Given the description of an element on the screen output the (x, y) to click on. 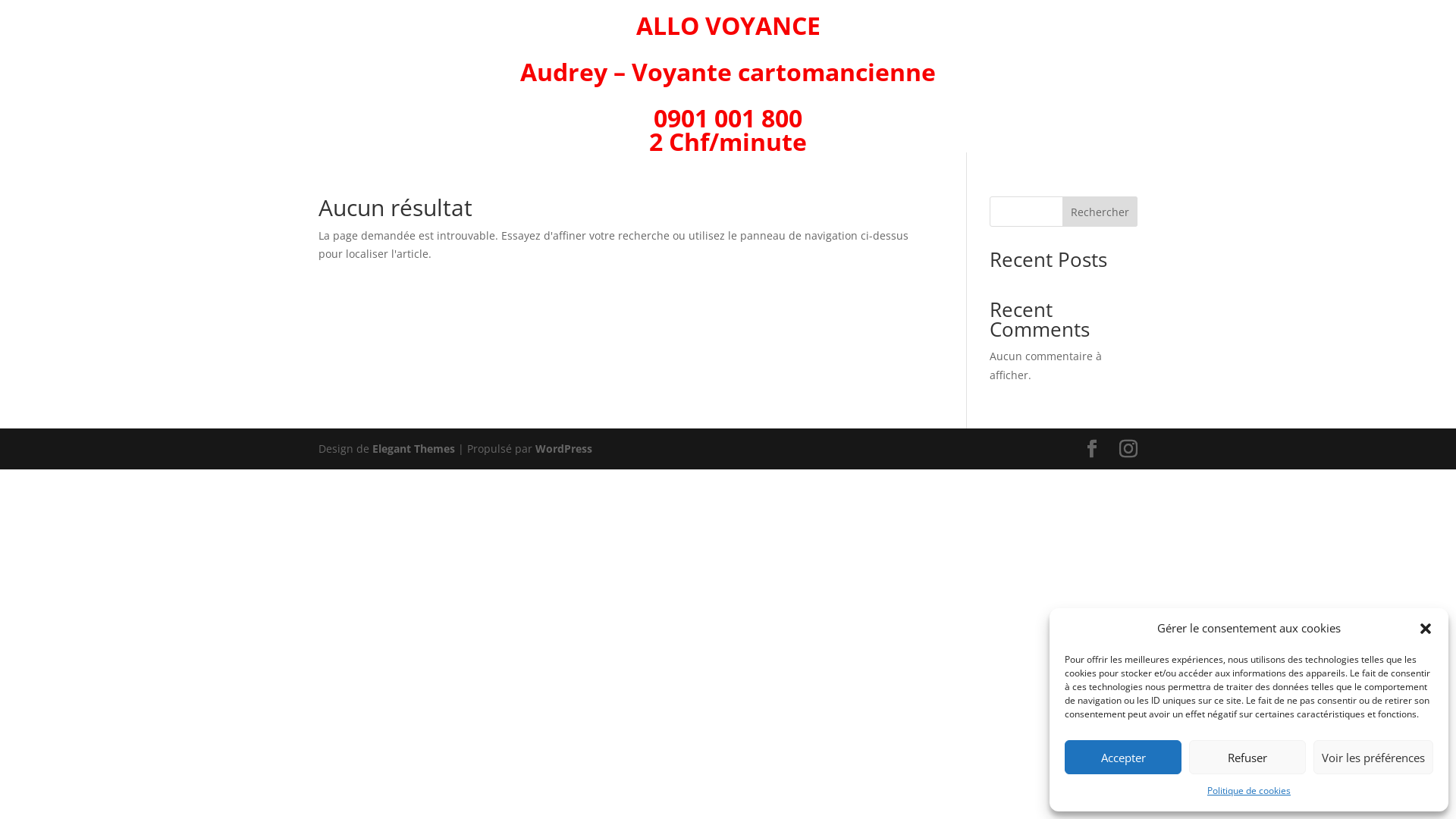
Rechercher Element type: text (1099, 211)
Politique de cookies Element type: text (1248, 790)
Refuser Element type: text (1247, 757)
Elegant Themes Element type: text (413, 448)
Accepter Element type: text (1122, 757)
WordPress Element type: text (563, 448)
